Given the description of an element on the screen output the (x, y) to click on. 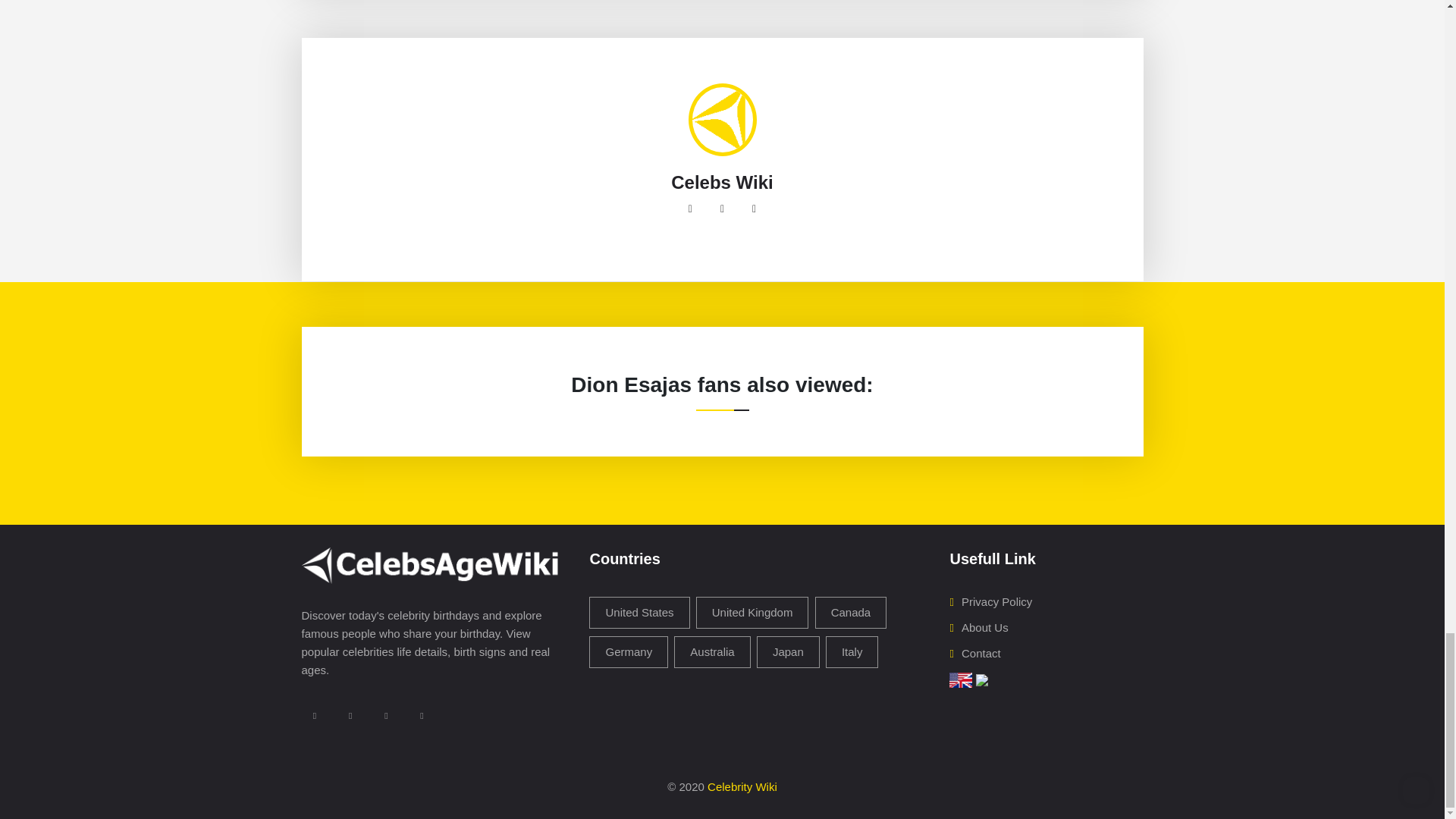
Spanish (981, 678)
Celebs Wiki (722, 182)
English (960, 678)
